Given the description of an element on the screen output the (x, y) to click on. 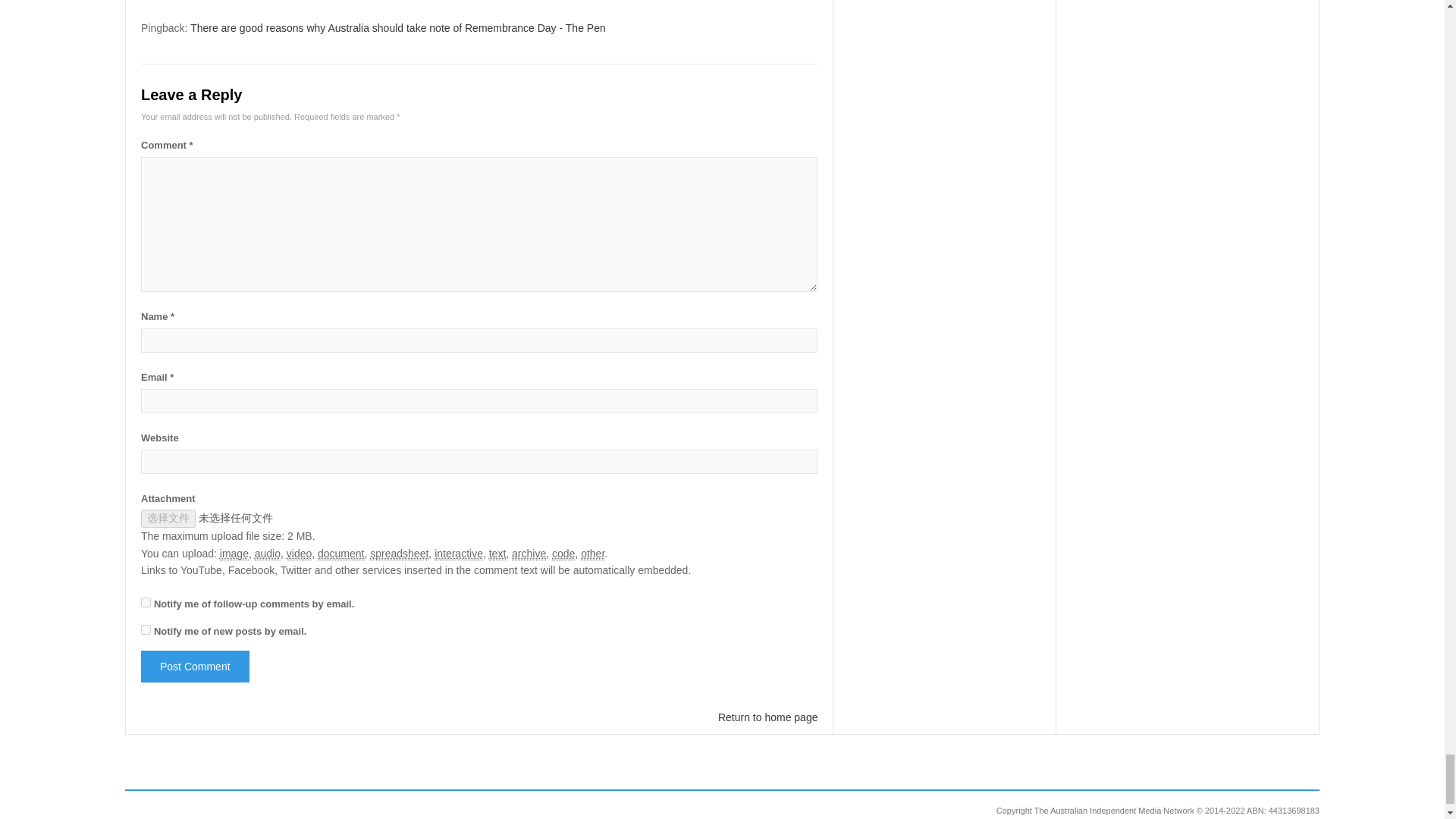
subscribe (146, 629)
Post Comment (194, 666)
subscribe (146, 602)
